Given the description of an element on the screen output the (x, y) to click on. 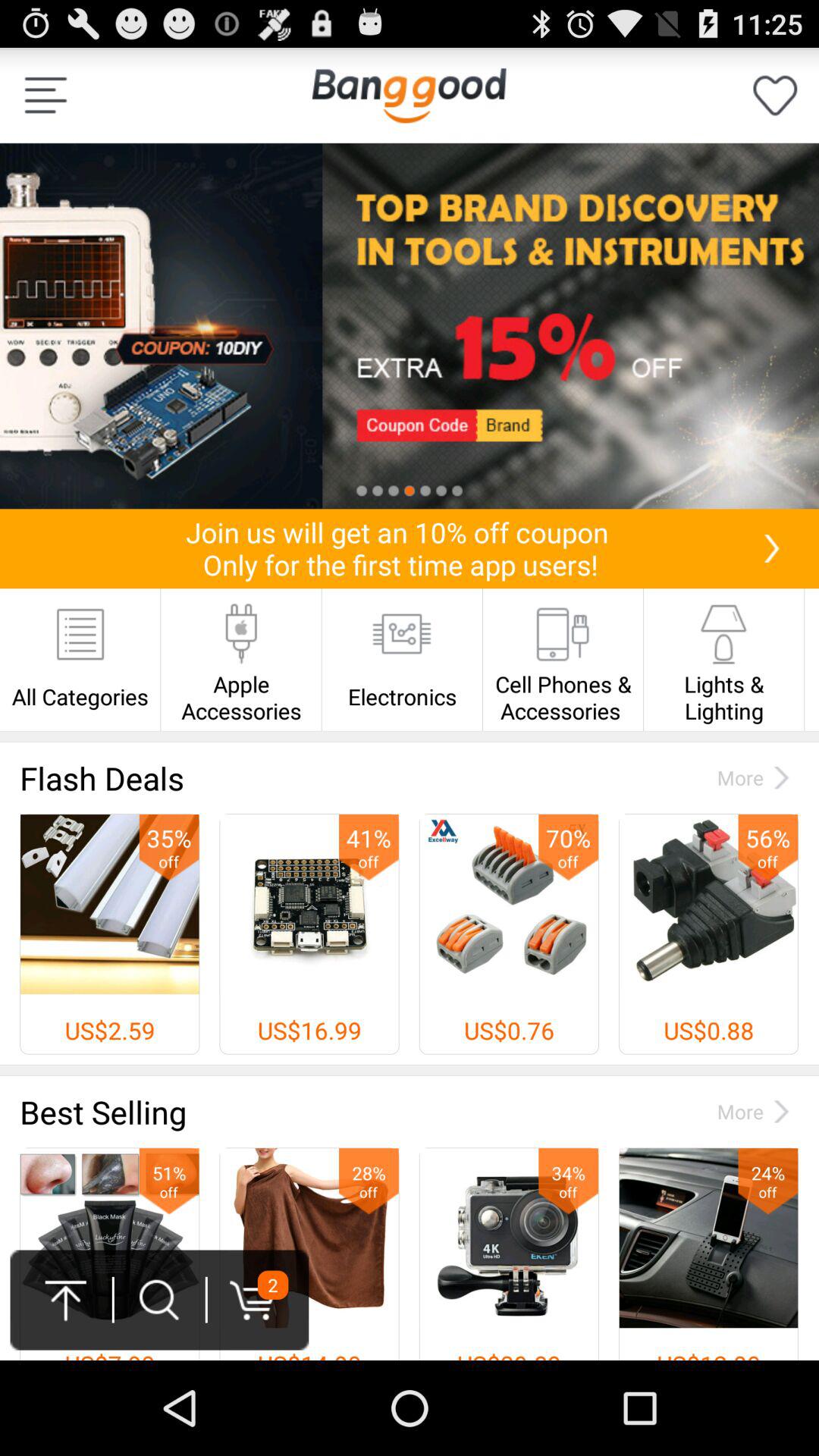
select the last image in flash deals (708, 903)
click next button right to text more (780, 778)
click on the upward arrow at the bottom left of the page (66, 1299)
